Given the description of an element on the screen output the (x, y) to click on. 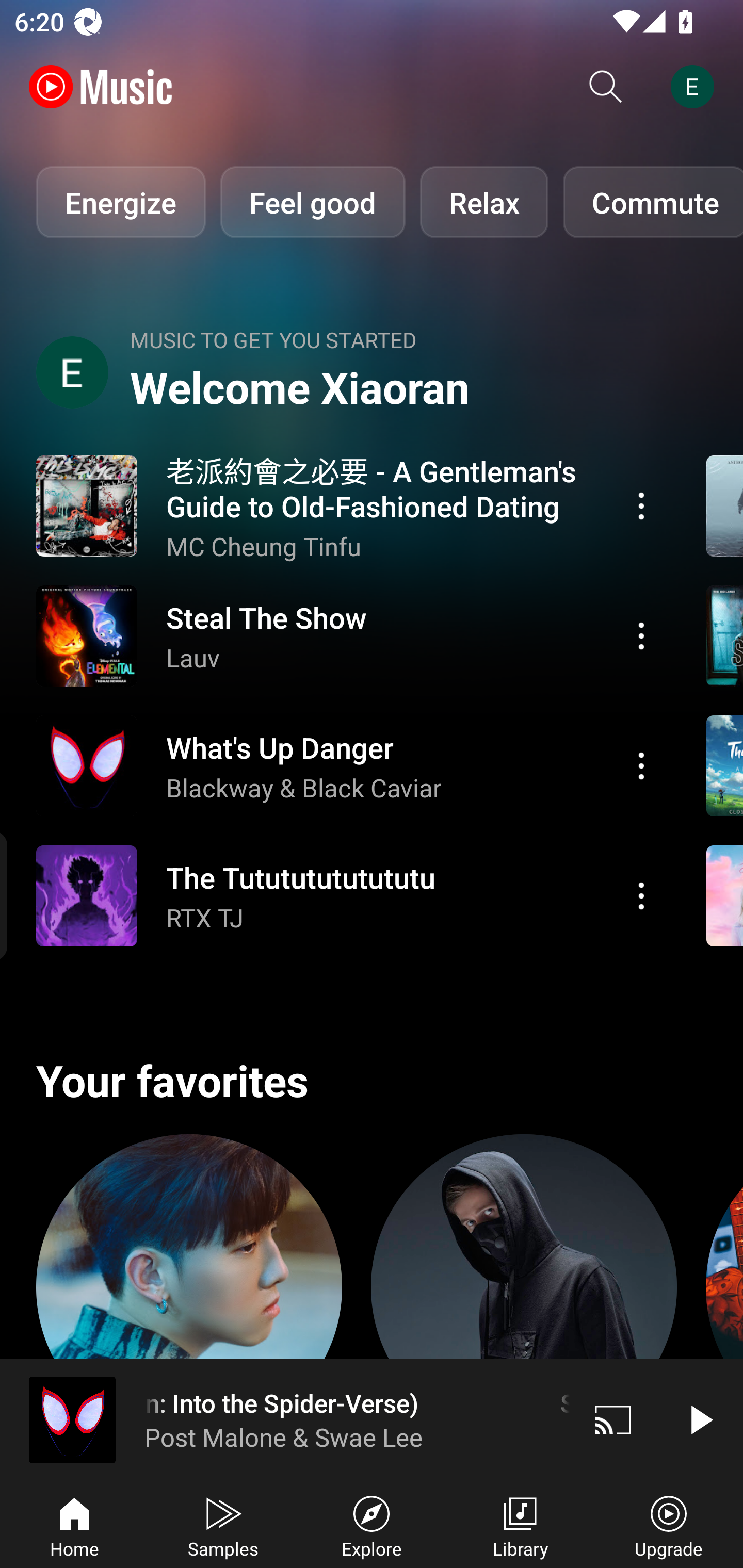
Search (605, 86)
Account (696, 86)
Action menu (349, 505)
Action menu (641, 505)
Action menu (349, 635)
Action menu (641, 635)
Action menu (349, 765)
Action menu (641, 765)
Action menu (349, 896)
Action menu (641, 896)
Cast. Disconnected (612, 1419)
Play video (699, 1419)
Home (74, 1524)
Samples (222, 1524)
Explore (371, 1524)
Library (519, 1524)
Upgrade (668, 1524)
